Given the description of an element on the screen output the (x, y) to click on. 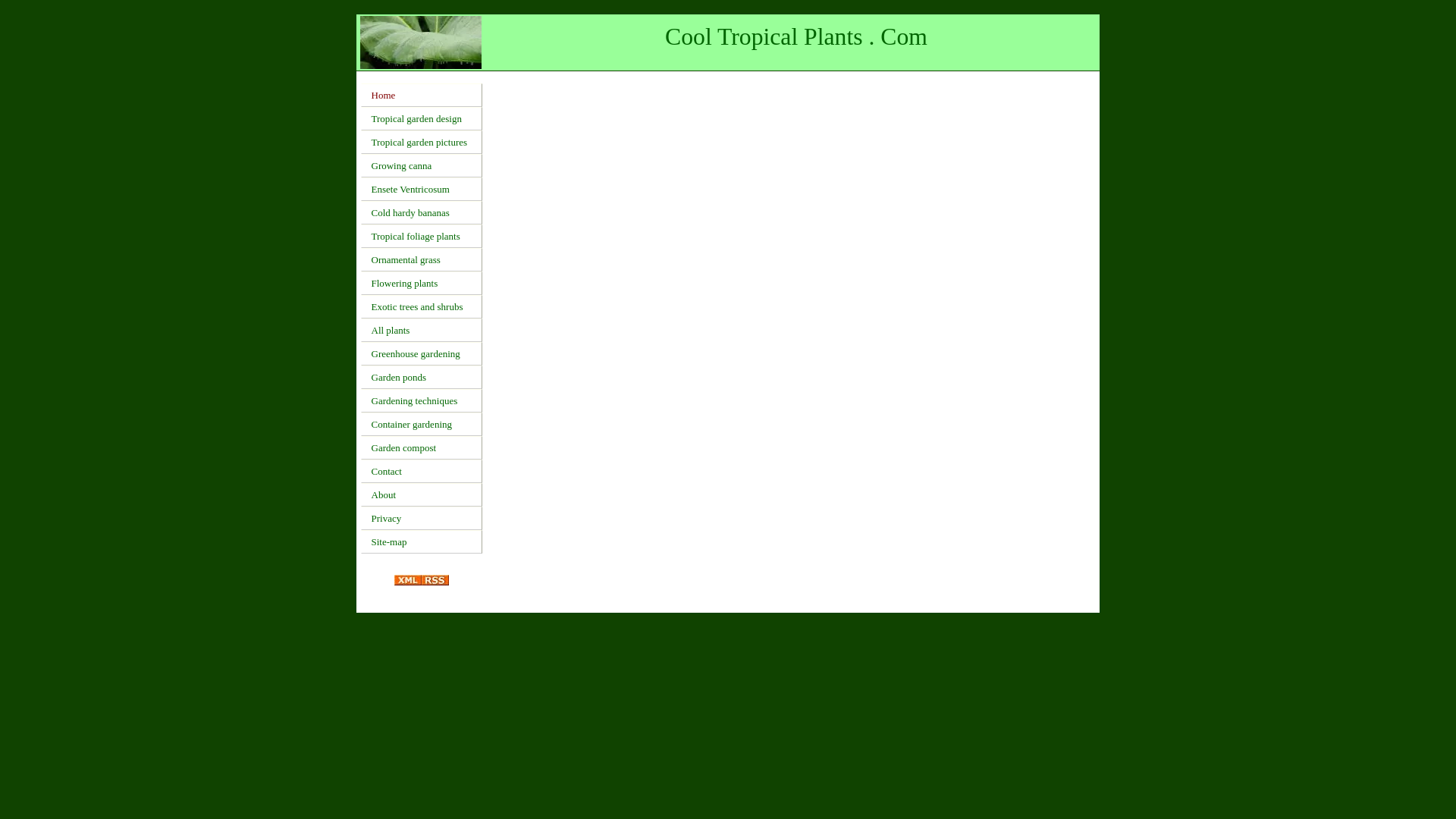
About (421, 494)
Flowering plants (421, 282)
Exotic trees and shrubs (421, 306)
Garden ponds (421, 377)
Growing canna (421, 165)
Tropical garden design (421, 118)
Container gardening (421, 423)
Ensete Ventricosum (421, 188)
All plants (421, 330)
Gardening techniques (421, 400)
Tropical foliage plants (421, 236)
Site-map (421, 541)
Home (421, 95)
Tropical garden pictures (421, 141)
Ornamental grass (421, 259)
